Given the description of an element on the screen output the (x, y) to click on. 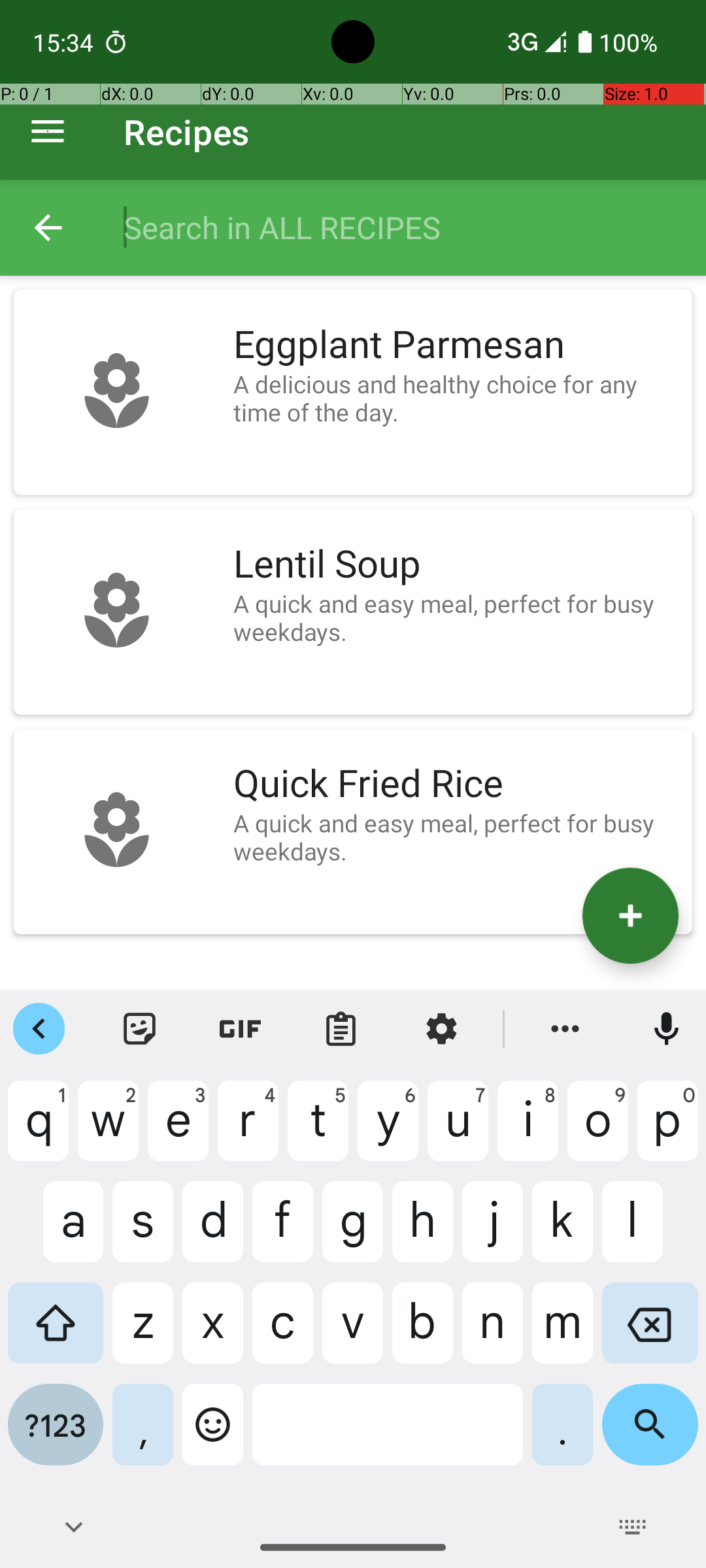
Collapse Element type: android.widget.ImageButton (48, 227)
Search in ALL RECIPES Element type: android.widget.AutoCompleteTextView (400, 227)
